Given the description of an element on the screen output the (x, y) to click on. 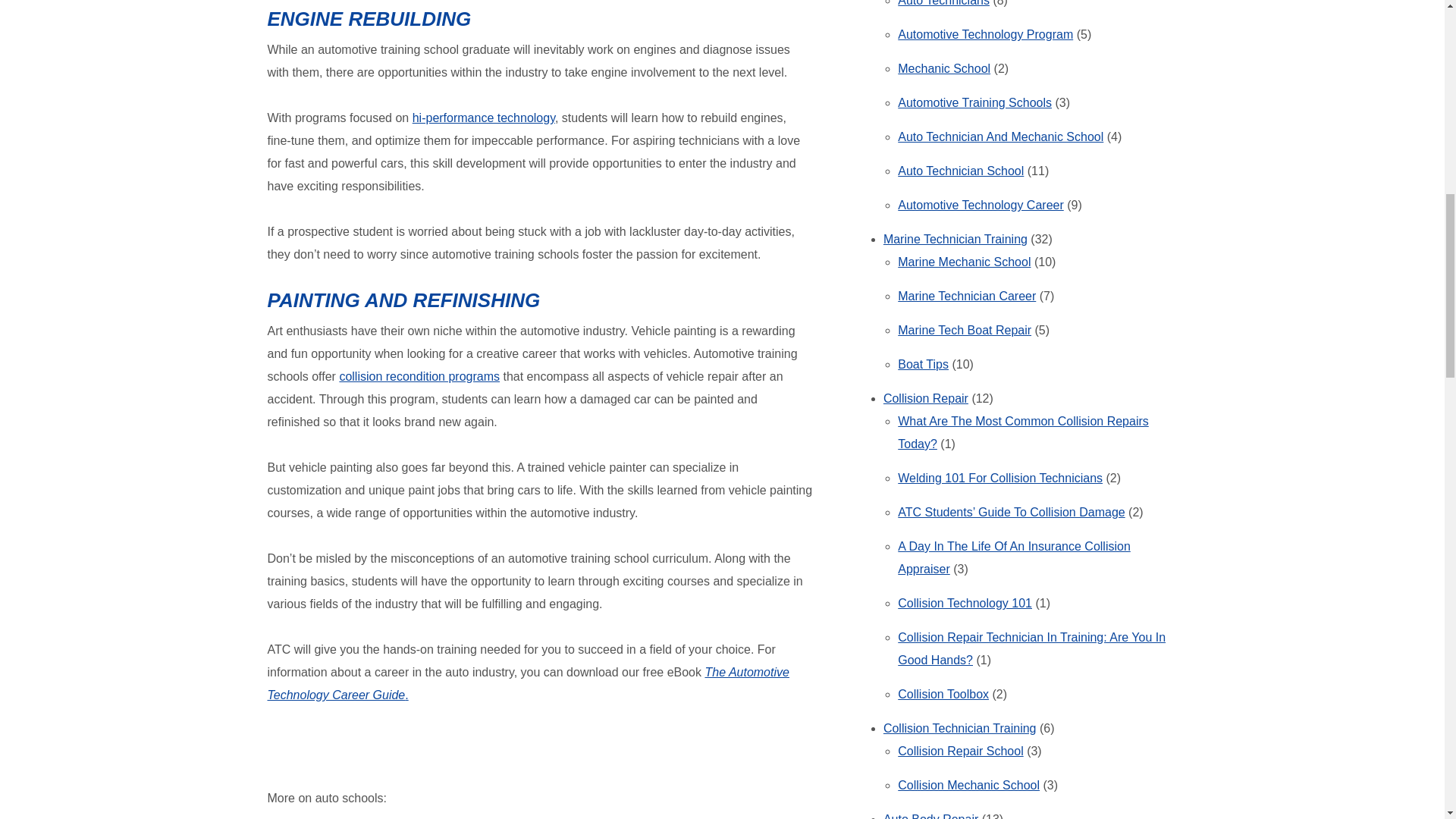
hi-performance technology (483, 117)
The Automotive Technology Career Guide (527, 683)
